Given the description of an element on the screen output the (x, y) to click on. 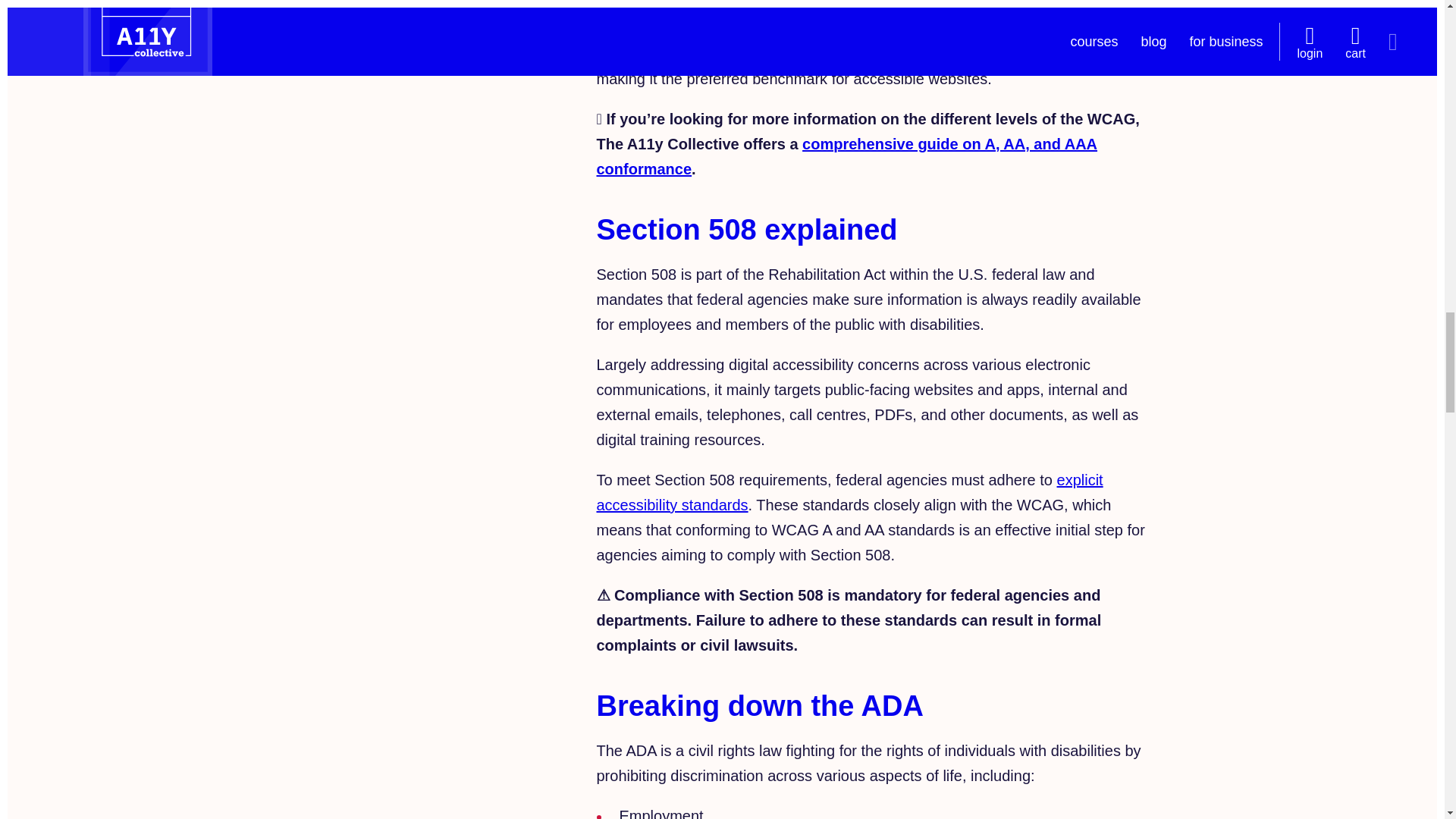
explicit accessibility standards (848, 492)
comprehensive guide on A, AA, and AAA conformance (846, 156)
three conformance levels (889, 6)
